Given the description of an element on the screen output the (x, y) to click on. 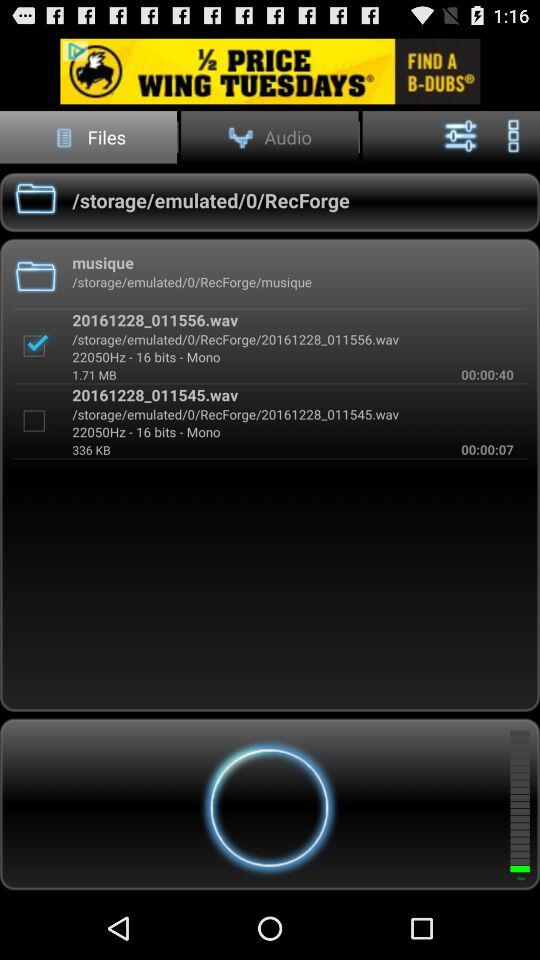
advertisement link (270, 70)
